Given the description of an element on the screen output the (x, y) to click on. 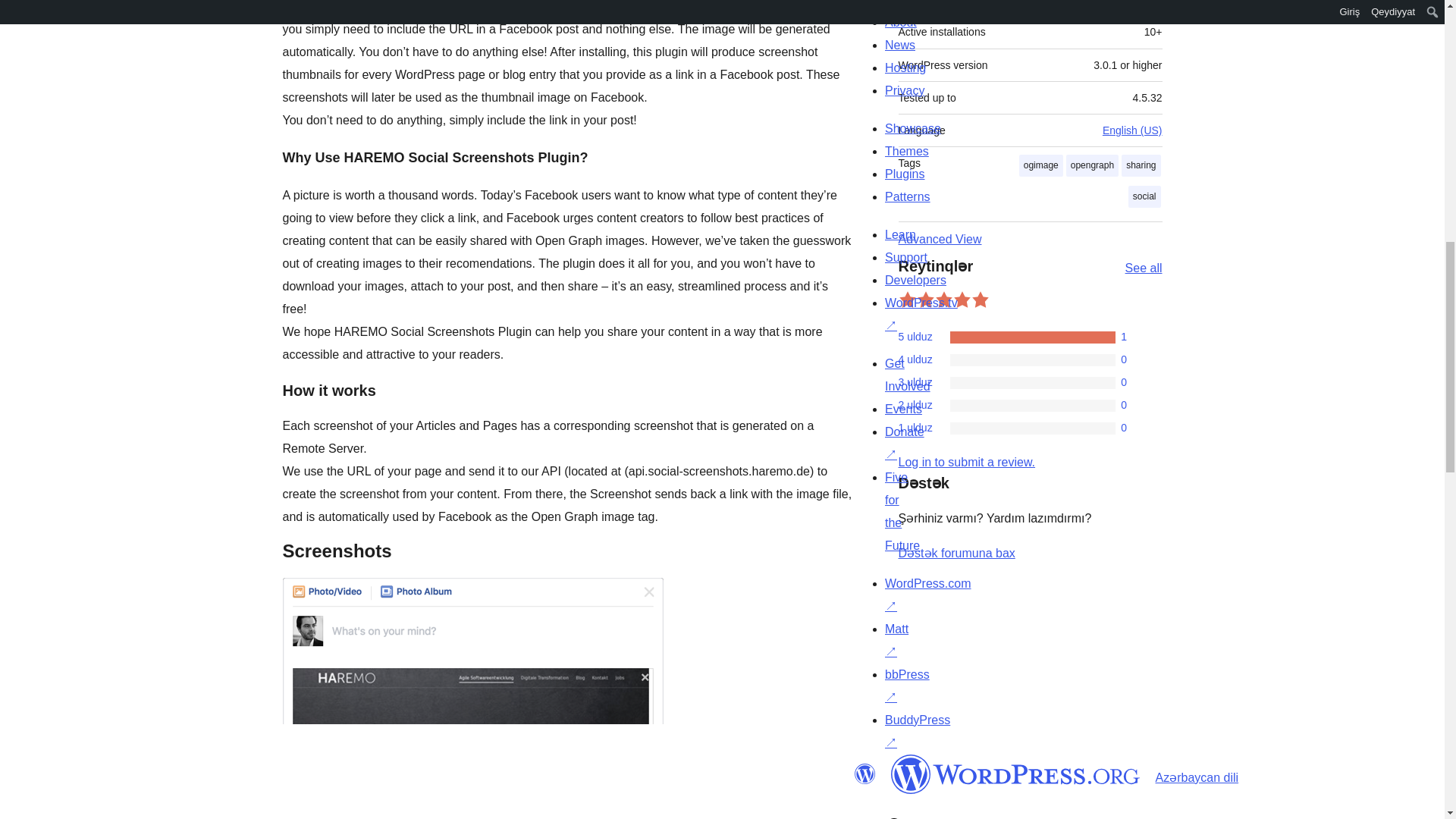
Log in to WordPress.org (966, 461)
WordPress.org (864, 773)
WordPress.org (1014, 773)
